Given the description of an element on the screen output the (x, y) to click on. 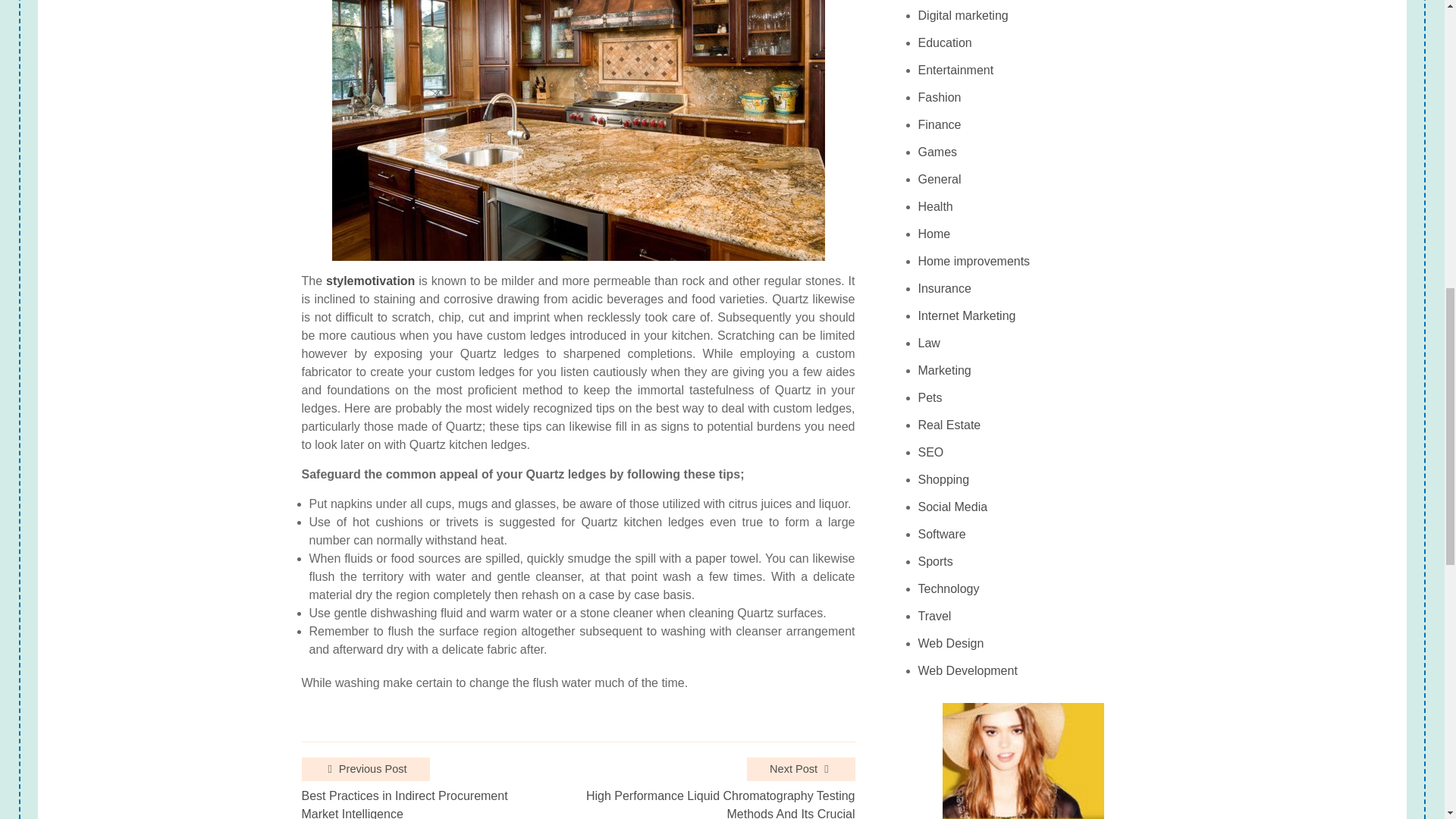
Education (945, 42)
Digital marketing (963, 15)
Law (929, 343)
Home (934, 234)
Previous Post (365, 769)
Pets (930, 397)
General (939, 179)
Next Post (800, 769)
Entertainment (956, 70)
Health (935, 206)
Home improvements (974, 261)
Internet Marketing (967, 316)
Games (938, 152)
Marketing (944, 370)
